Given the description of an element on the screen output the (x, y) to click on. 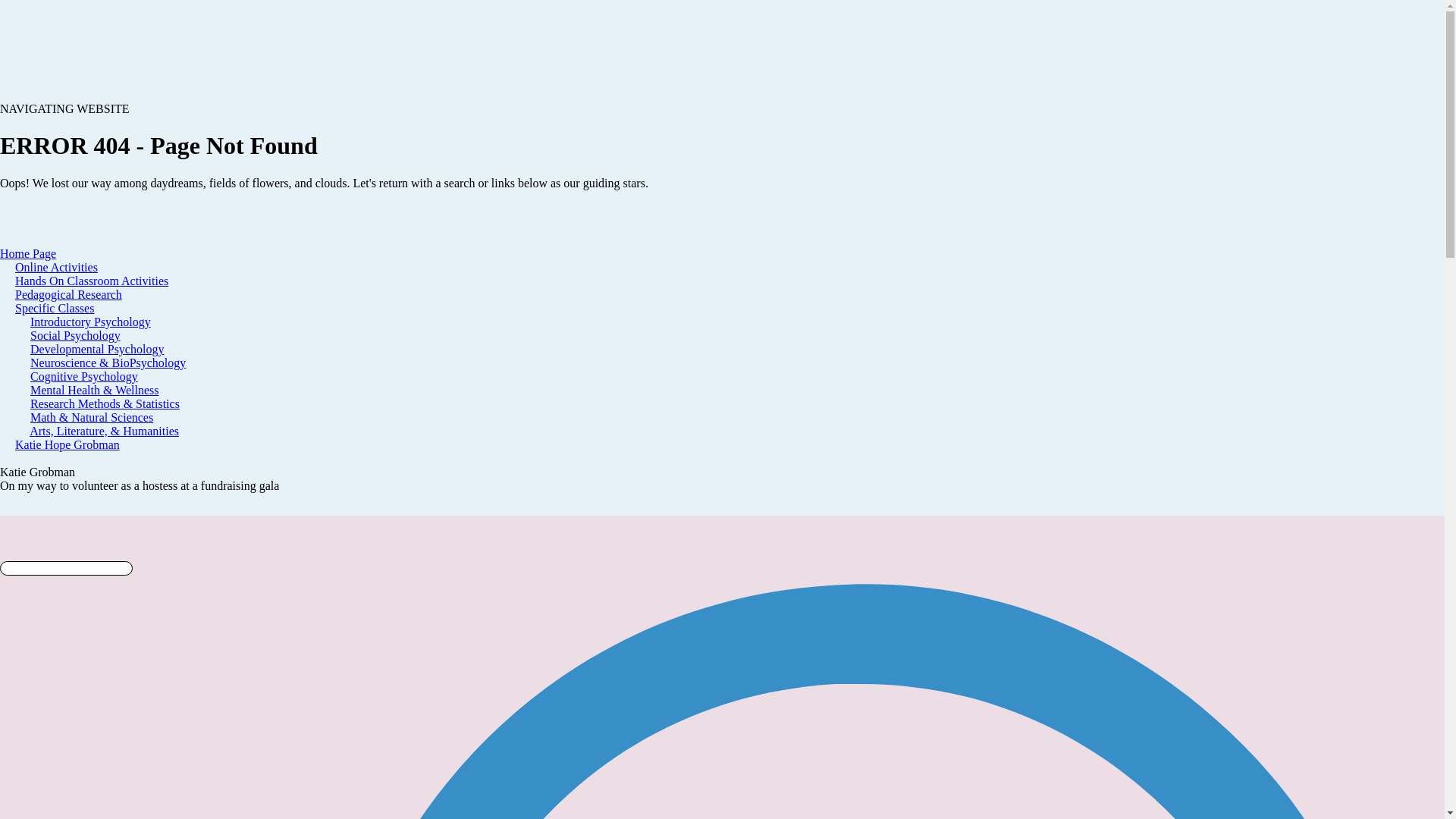
Social Psychology (75, 335)
Cognitive Psychology (84, 376)
Developmental Psychology (96, 349)
Pedagogical Research (68, 294)
Home Page (28, 253)
Specific Classes (54, 308)
Hands On Classroom Activities (91, 280)
Katie Hope Grobman (66, 444)
Online Activities (55, 267)
Introductory Psychology (90, 321)
